Given the description of an element on the screen output the (x, y) to click on. 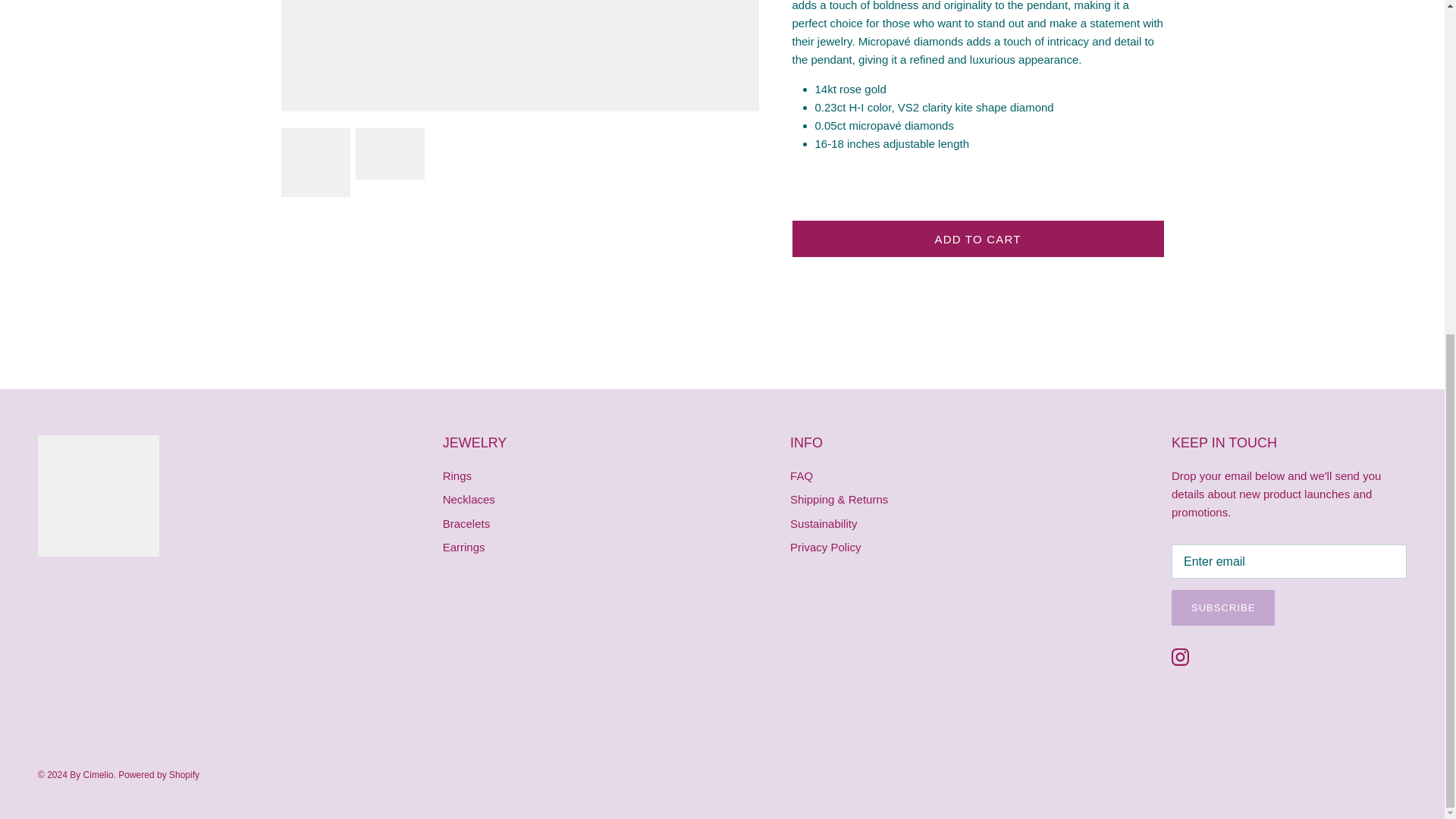
Instagram (1180, 656)
